Given the description of an element on the screen output the (x, y) to click on. 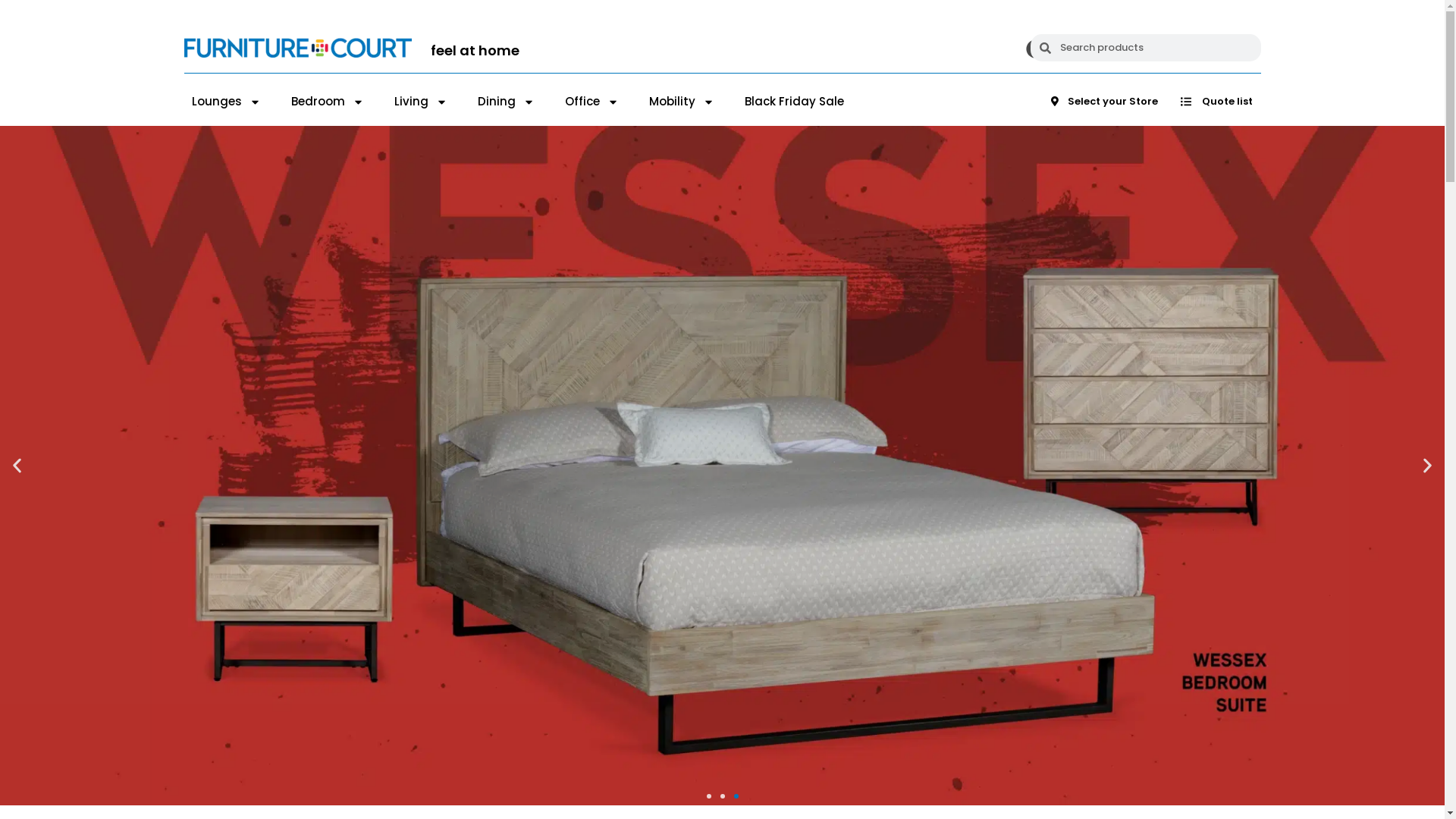
Dining Element type: text (505, 101)
Black Friday Sale Element type: text (794, 101)
Office Element type: text (591, 101)
Quote list Element type: text (1216, 101)
Mobility Element type: text (681, 101)
Bedroom Element type: text (327, 101)
Living Element type: text (420, 101)
Select your Store Element type: text (1104, 101)
Lounges Element type: text (225, 101)
